Given the description of an element on the screen output the (x, y) to click on. 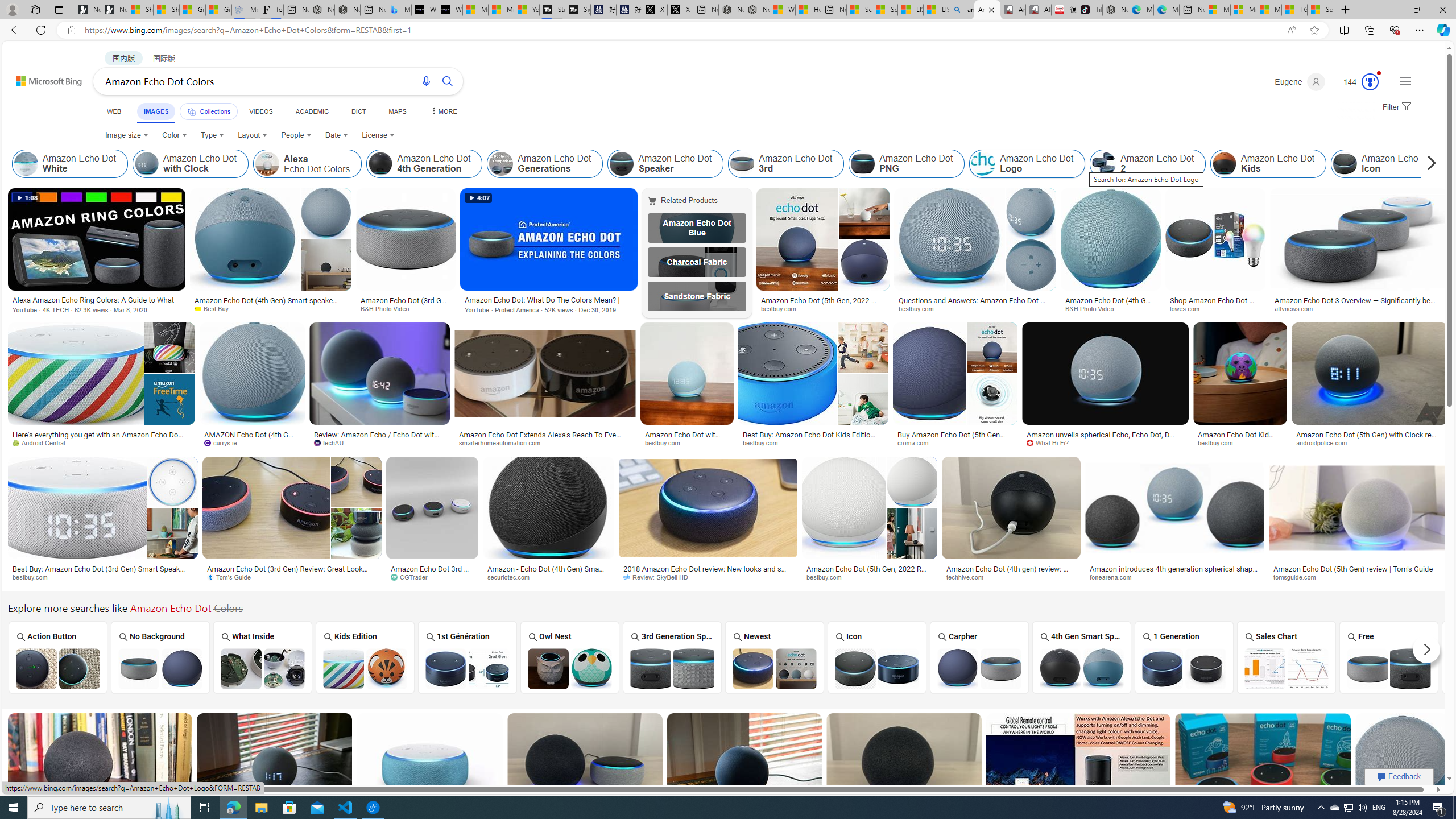
Amazon Echo Dot (5th Gen) review | Tom's Guide (1358, 568)
Amazon Echo Dot with Clock (145, 163)
lowes.com (1188, 308)
Amazon Echo Dot PNG (862, 163)
Image result for Amazon Echo Dot Colors (1401, 764)
Amazon Echo Dot 3rd Generation Speaker (671, 668)
